Given the description of an element on the screen output the (x, y) to click on. 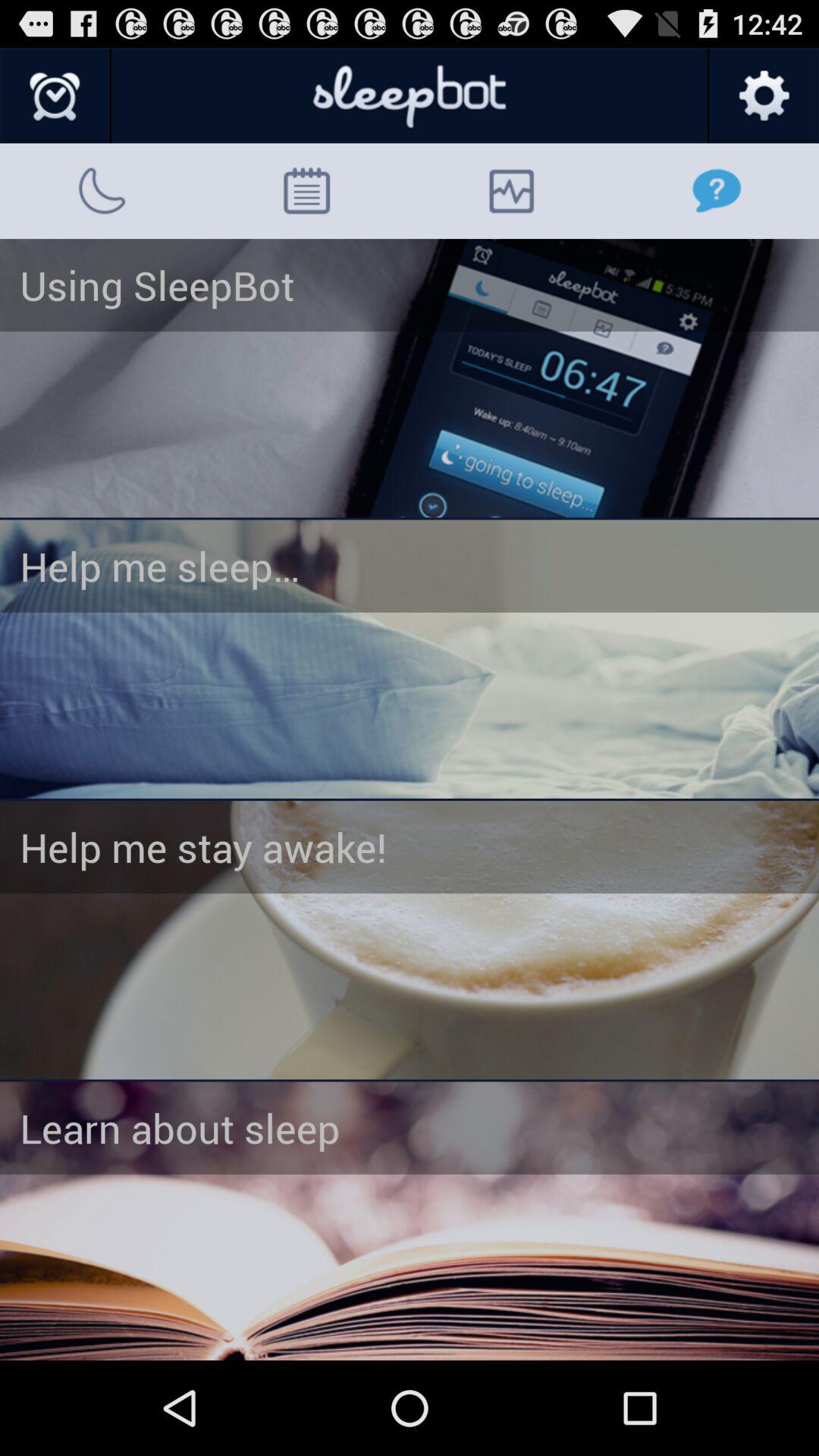
click on section (409, 1220)
